Given the description of an element on the screen output the (x, y) to click on. 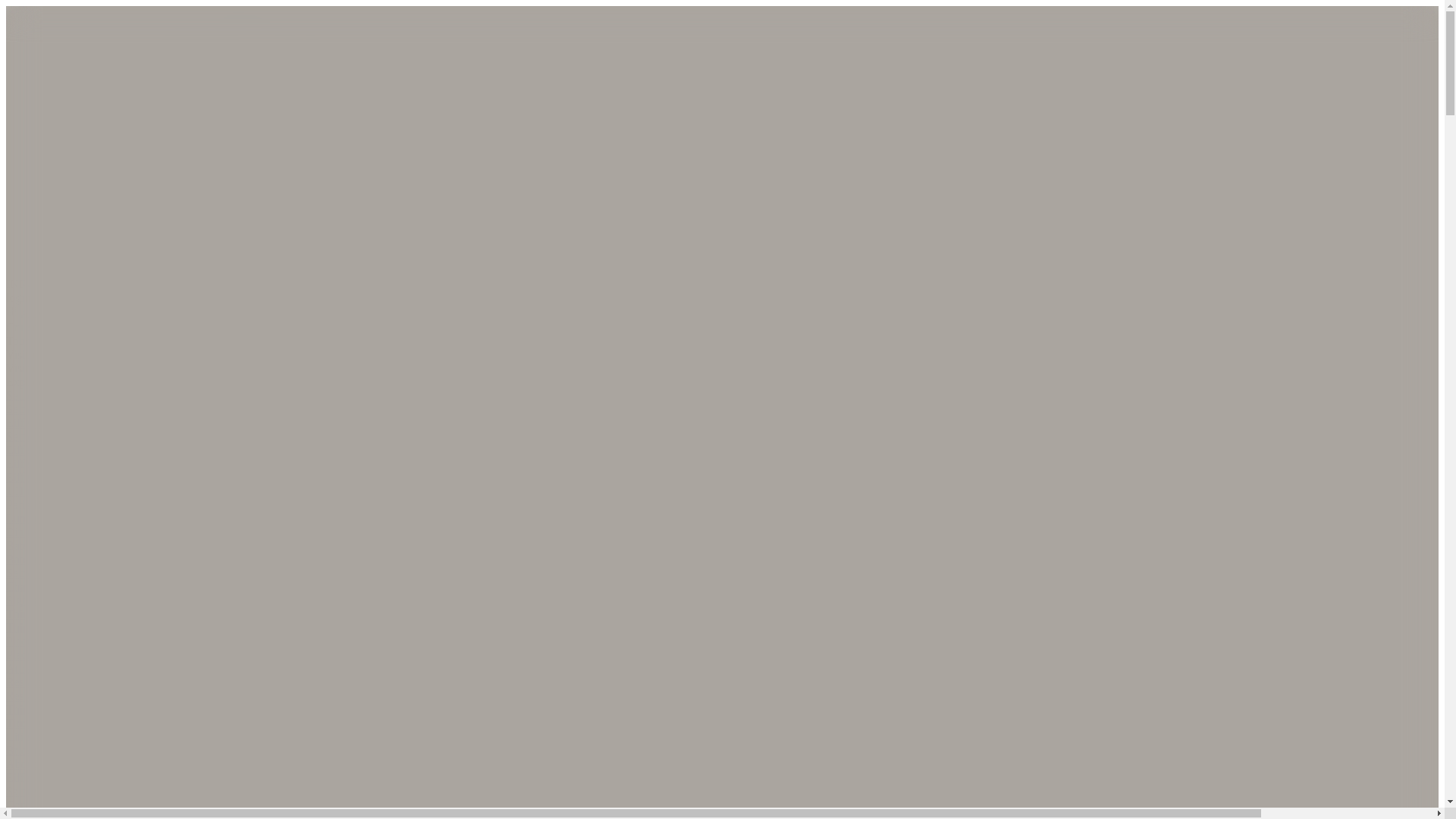
Things to do near Seine River (78, 708)
Restaurants on the River Seine (80, 695)
Seine River Dinner Cruise (69, 395)
Bateaux Mouches (49, 558)
Dinner Cruises (41, 531)
Paris Boat Tours (45, 504)
1 Hour Seine River Cruise in Paris (89, 490)
Things to do on Seine River (73, 613)
Champagne tasting on the Seine River (98, 585)
